Given the description of an element on the screen output the (x, y) to click on. 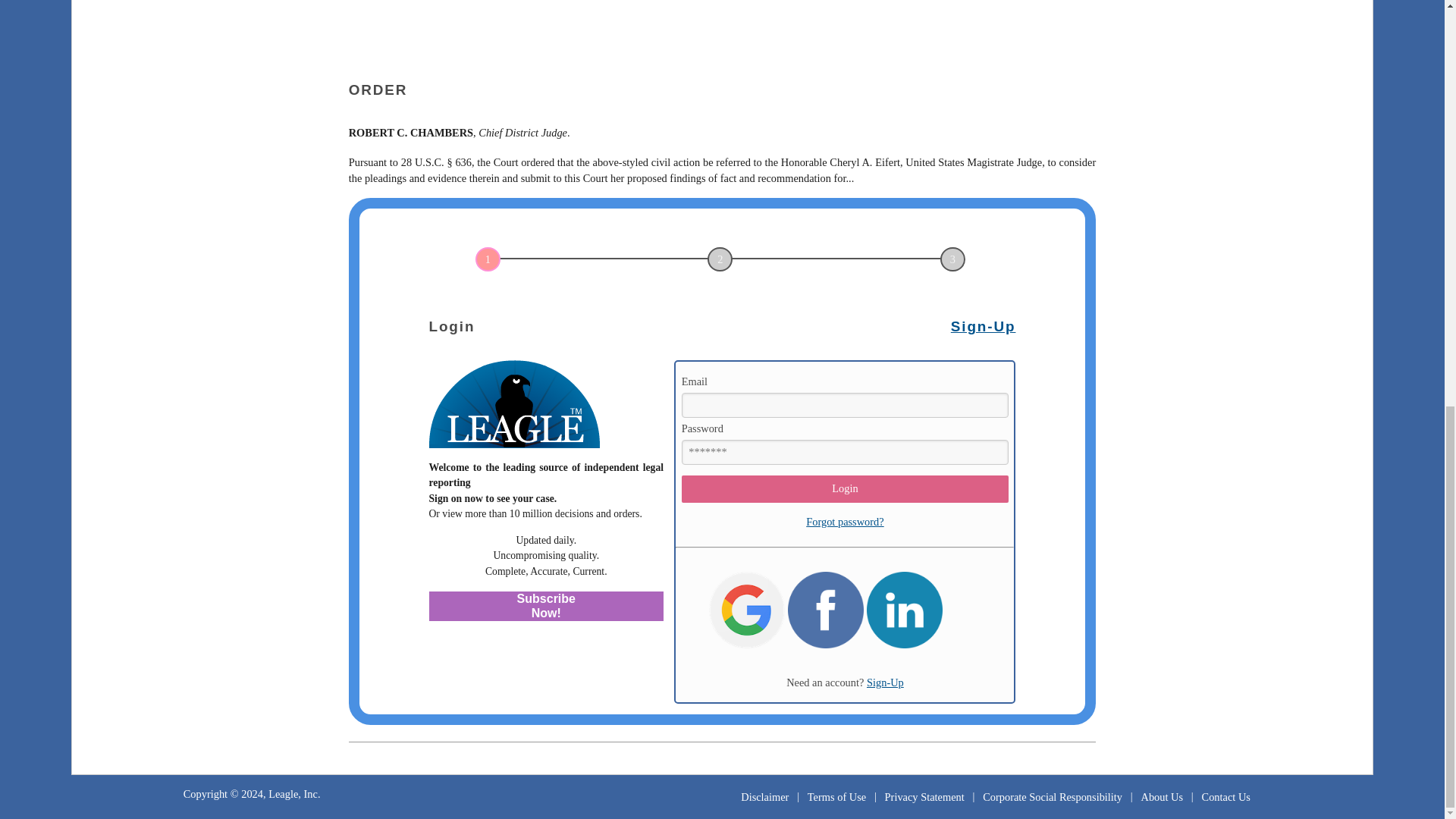
Privacy Statement (924, 796)
Sign-Up (885, 682)
Sign-Up (983, 326)
Login (845, 488)
Advertisement (722, 28)
About Us (1162, 796)
Terms of Use (837, 796)
Disclaimer (765, 796)
Contact Us (1225, 796)
Corporate Social Responsibility (1052, 796)
Forgot password? (844, 521)
